Given the description of an element on the screen output the (x, y) to click on. 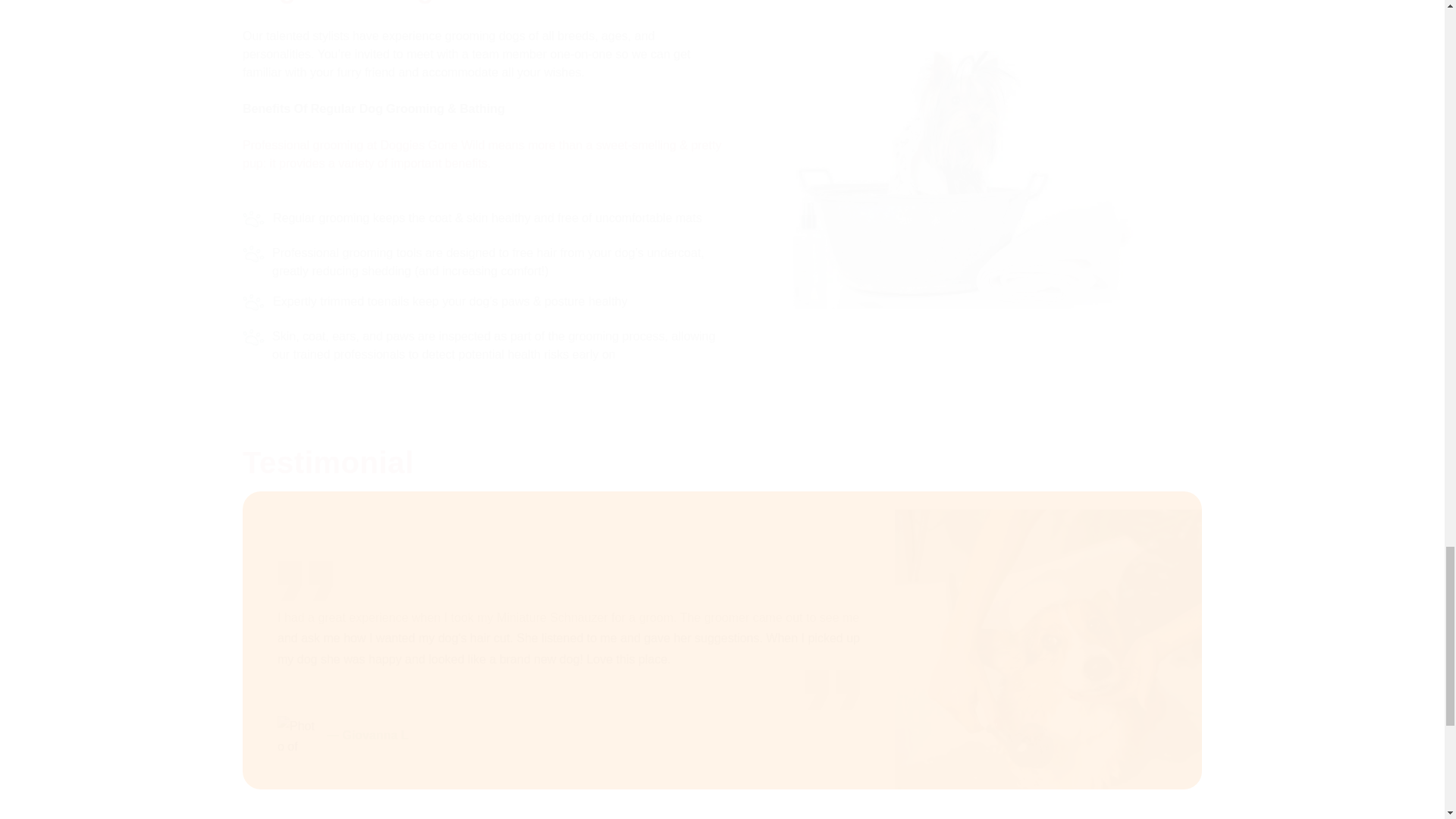
Testimonial (722, 462)
